Given the description of an element on the screen output the (x, y) to click on. 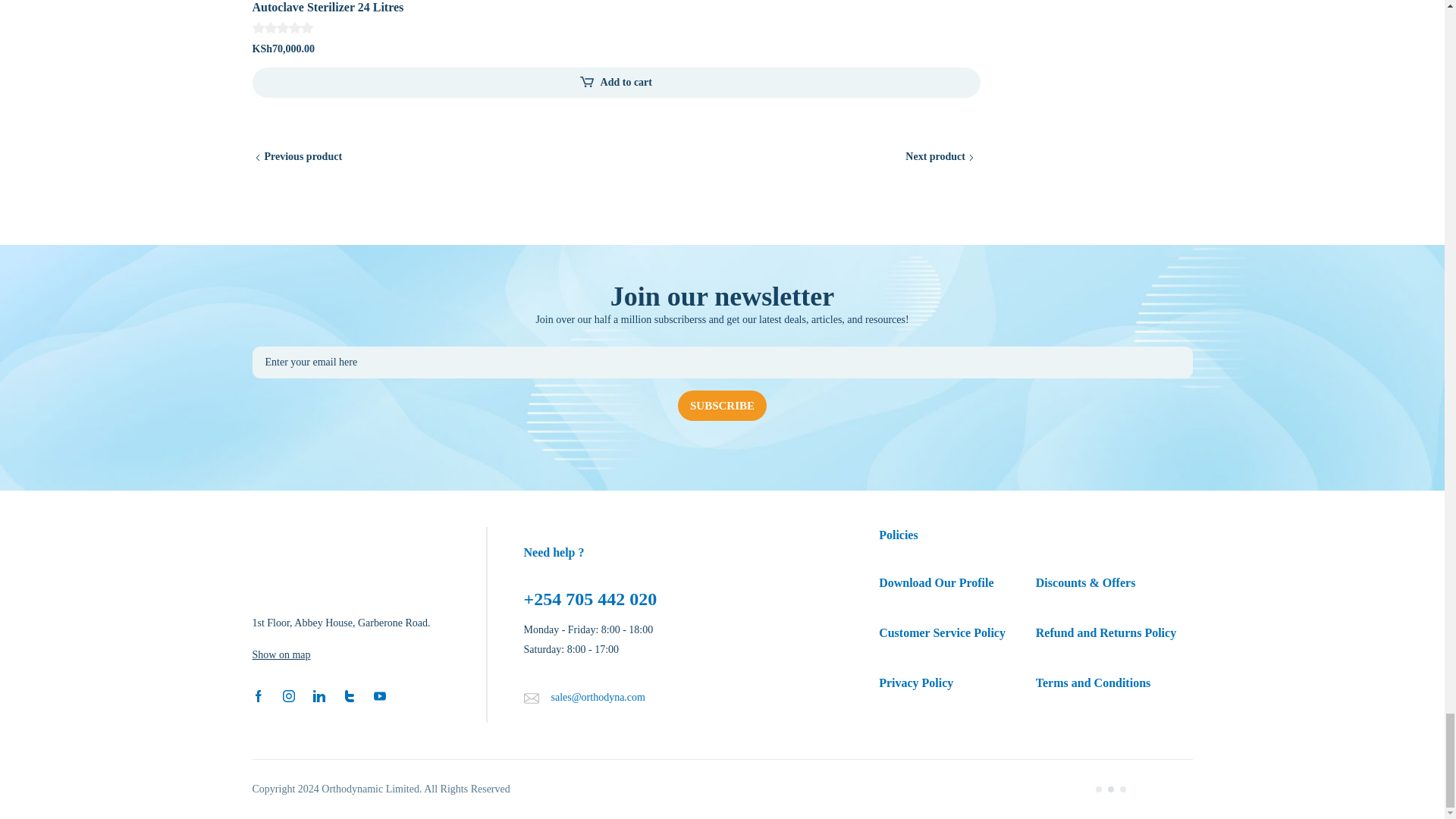
SUBSCRIBE (722, 405)
